Given the description of an element on the screen output the (x, y) to click on. 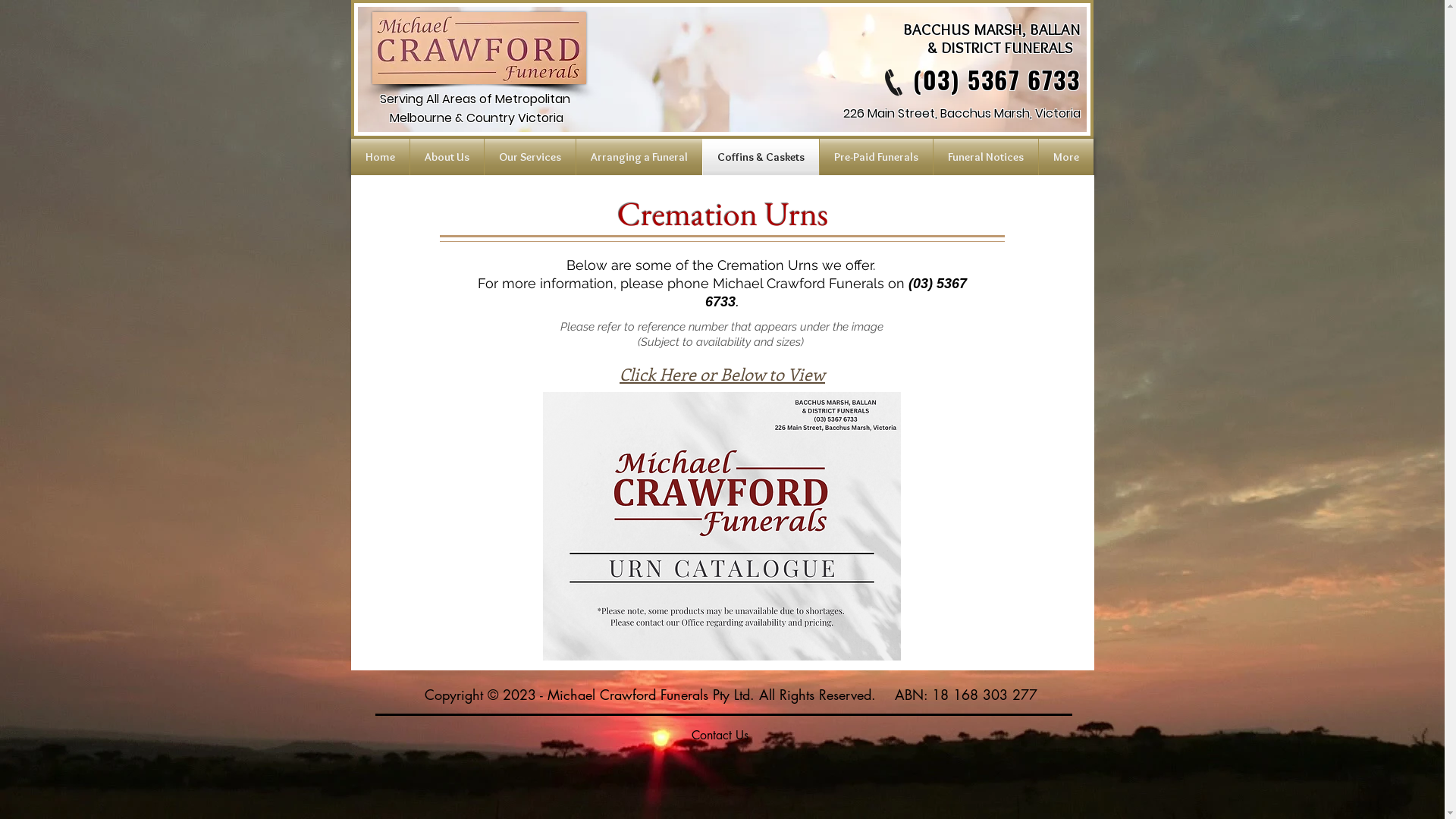
Funeral Notices Element type: text (984, 156)
Pre-Paid Funerals Element type: text (875, 156)
Arranging a Funeral Element type: text (639, 156)
URN Brochure 2023 MCF.pdf Element type: hover (721, 528)
Click Here or Below to View Element type: text (722, 373)
Coffins & Caskets Element type: text (760, 156)
About Us Element type: text (446, 156)
Home Element type: text (379, 156)
Contact Us Element type: text (719, 734)
Our Services Element type: text (528, 156)
